Given the description of an element on the screen output the (x, y) to click on. 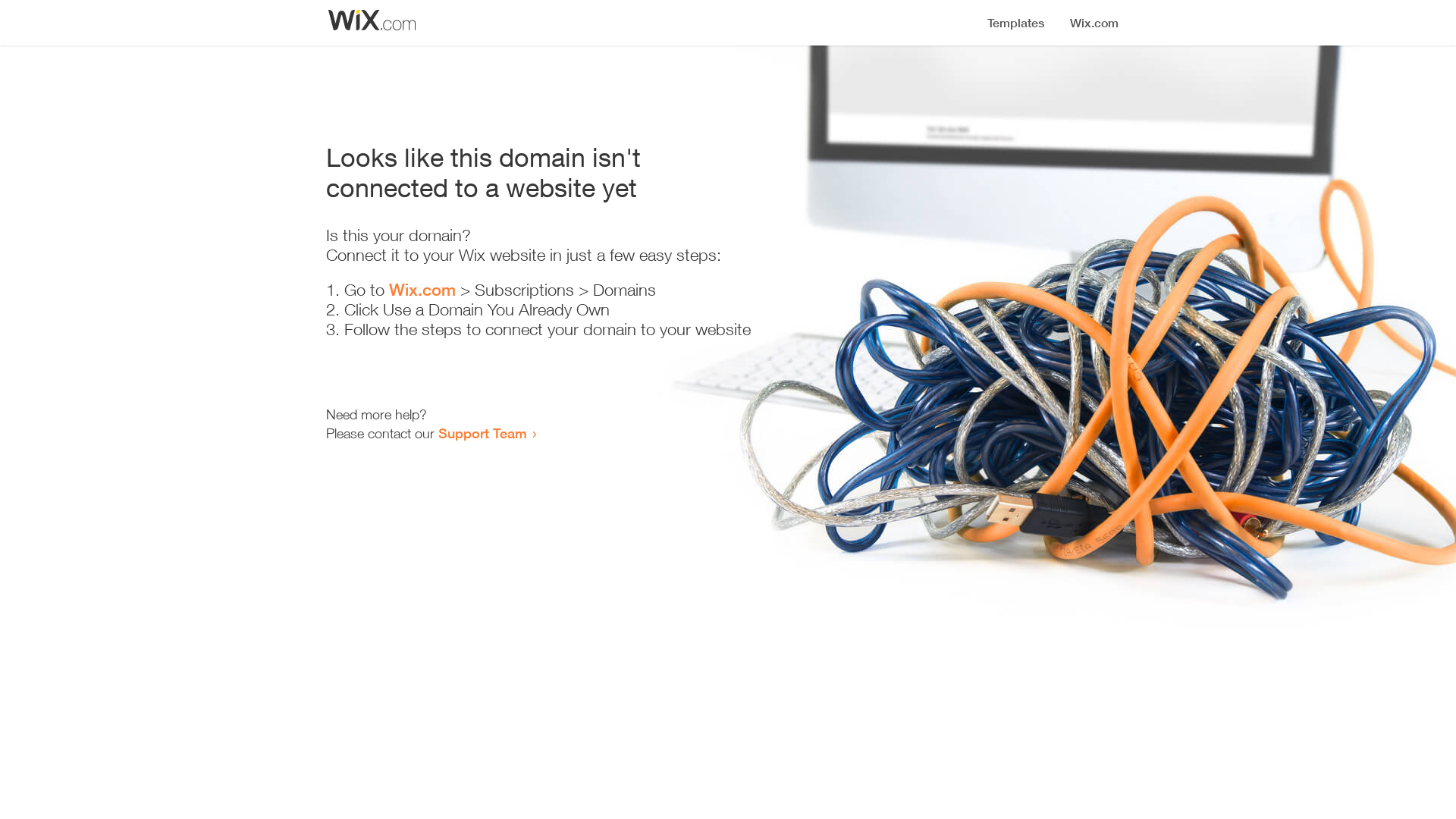
Wix.com Element type: text (422, 289)
Support Team Element type: text (482, 432)
